Given the description of an element on the screen output the (x, y) to click on. 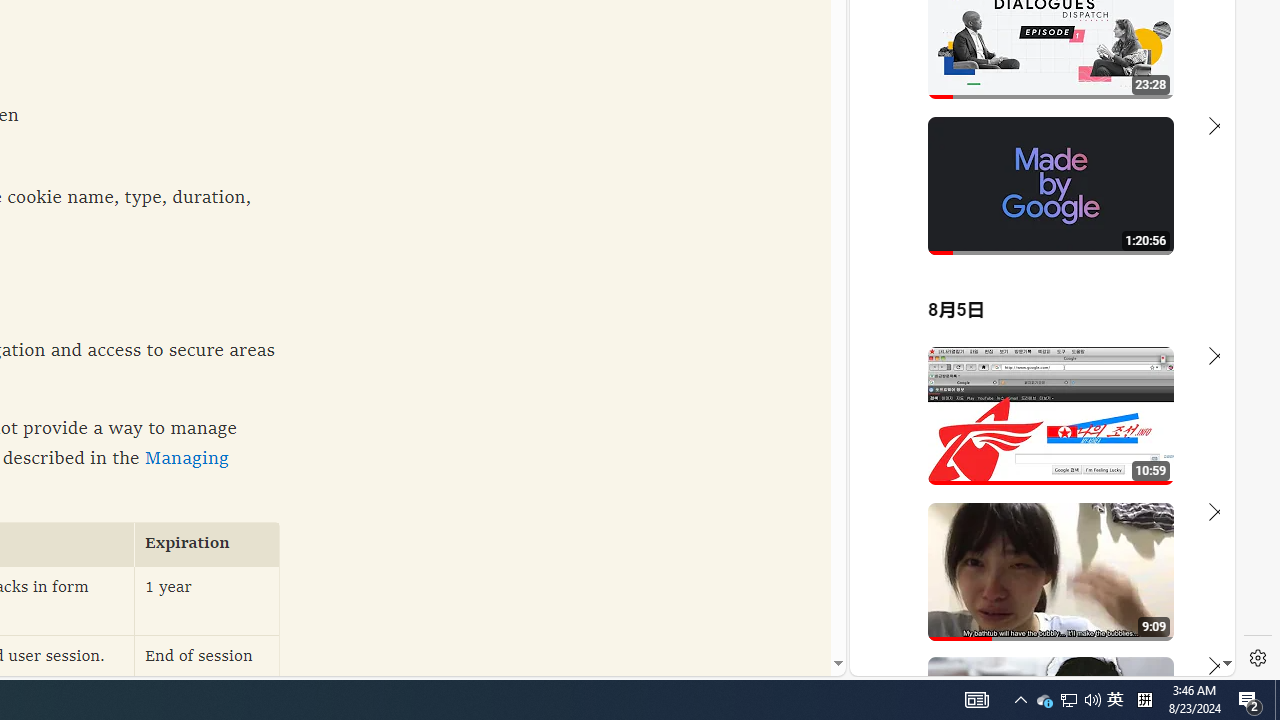
YouTube - YouTube (1034, 266)
End of session (207, 669)
Class: dict_pnIcon rms_img (1028, 660)
1 year (207, 600)
US[ju] (917, 660)
you (1034, 609)
Expiration (207, 544)
